Given the description of an element on the screen output the (x, y) to click on. 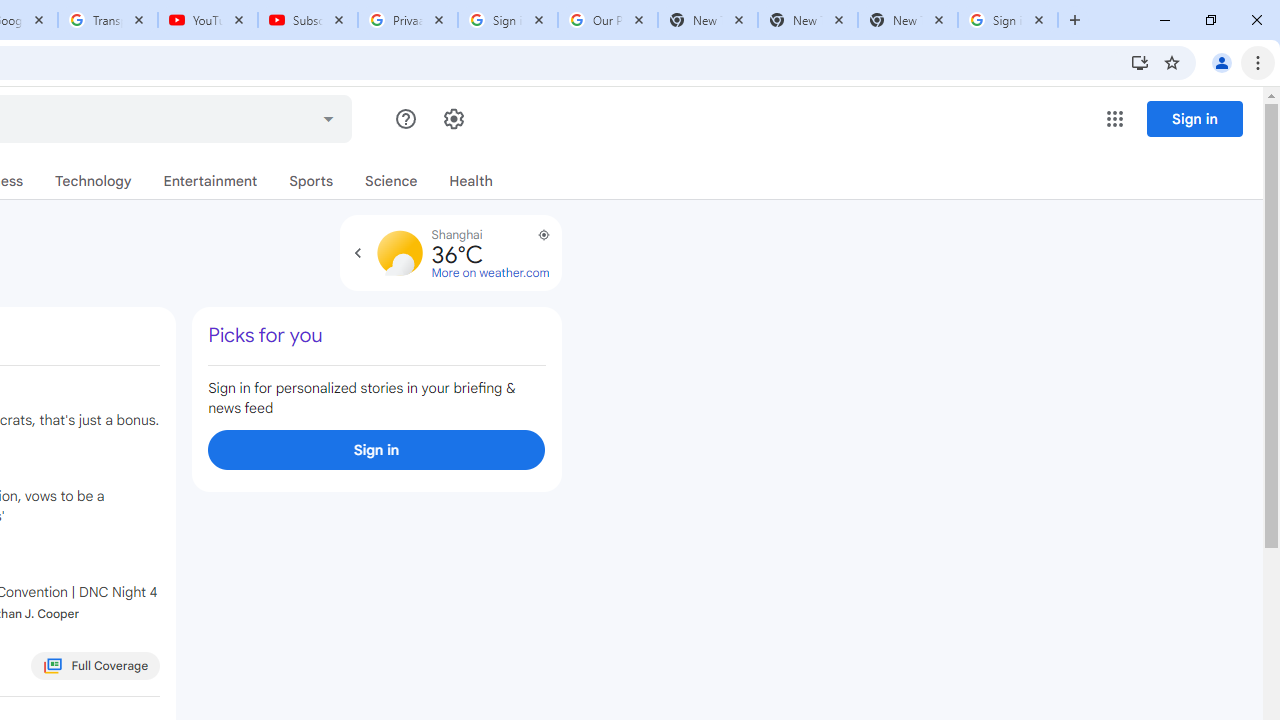
Science (391, 181)
YouTube (207, 20)
Install Google News (1139, 62)
Sign in - Google Accounts (508, 20)
Full Coverage (95, 665)
More on weather.com (490, 273)
